Given the description of an element on the screen output the (x, y) to click on. 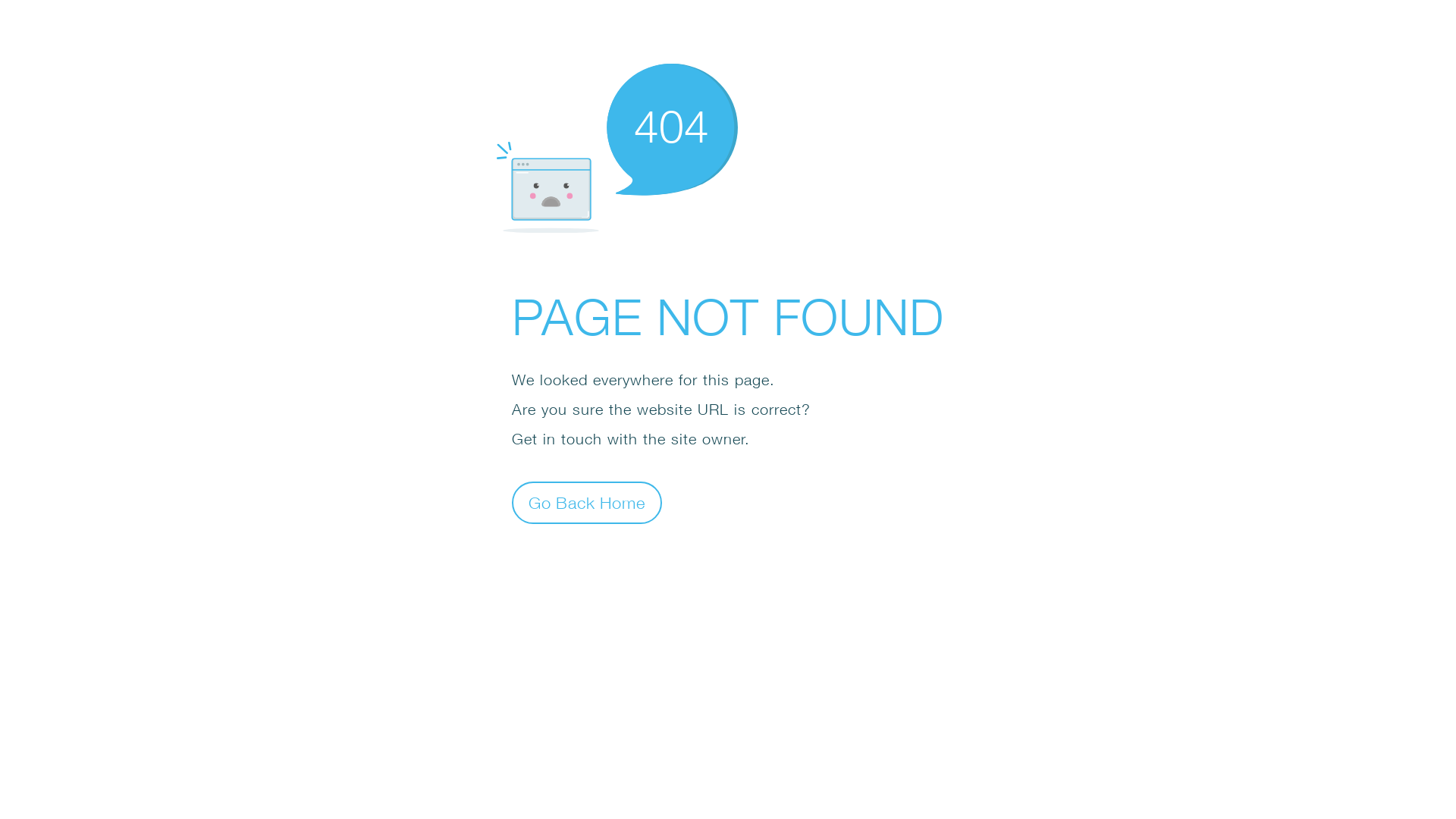
Go Back Home Element type: text (586, 502)
